Given the description of an element on the screen output the (x, y) to click on. 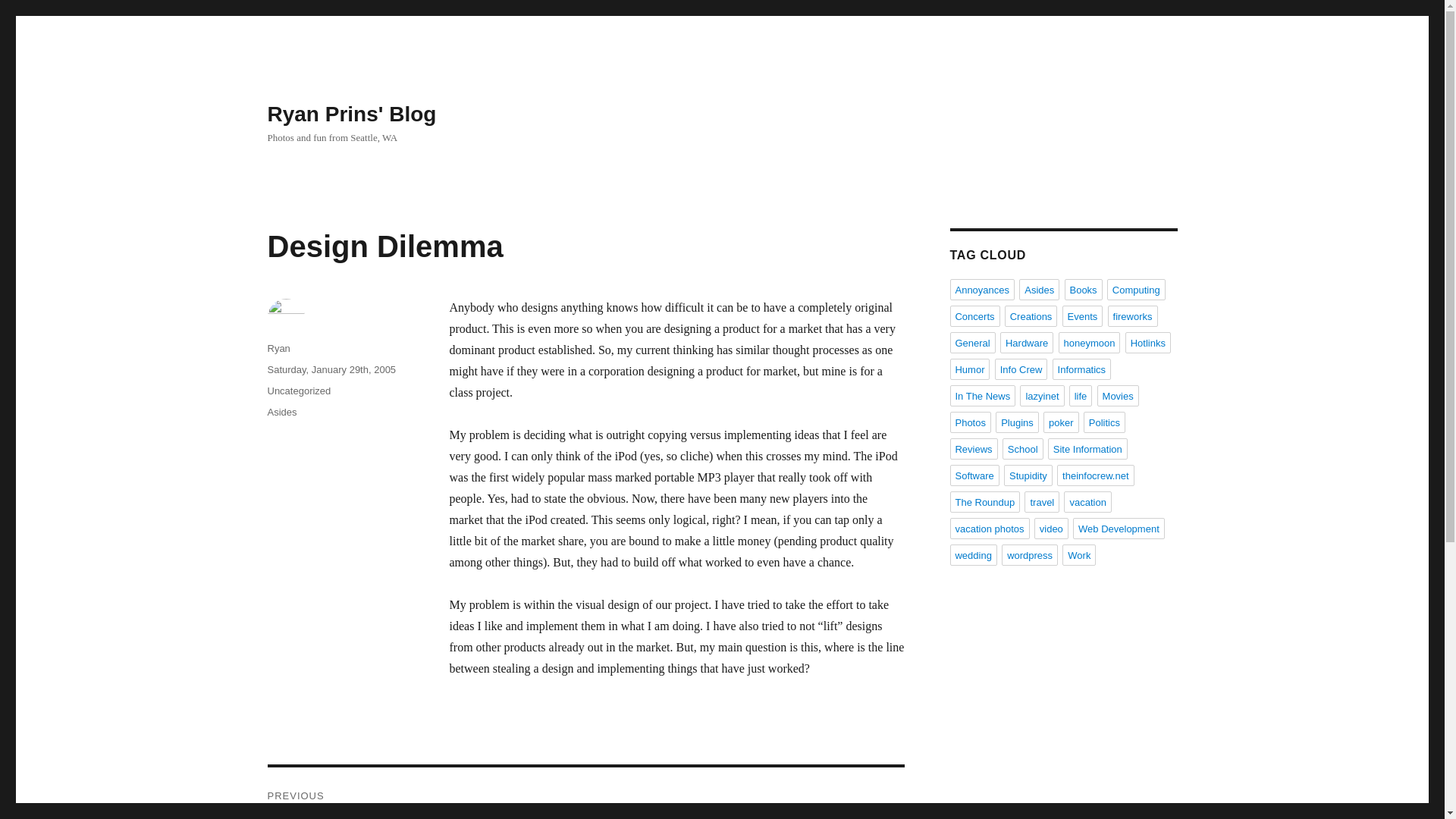
In The News (981, 395)
Plugins (1017, 422)
Humor (969, 369)
Asides (1039, 289)
Software (973, 475)
vacation photos (989, 527)
Politics (1104, 422)
Books (1083, 289)
travel (1042, 501)
Events (1082, 315)
